Given the description of an element on the screen output the (x, y) to click on. 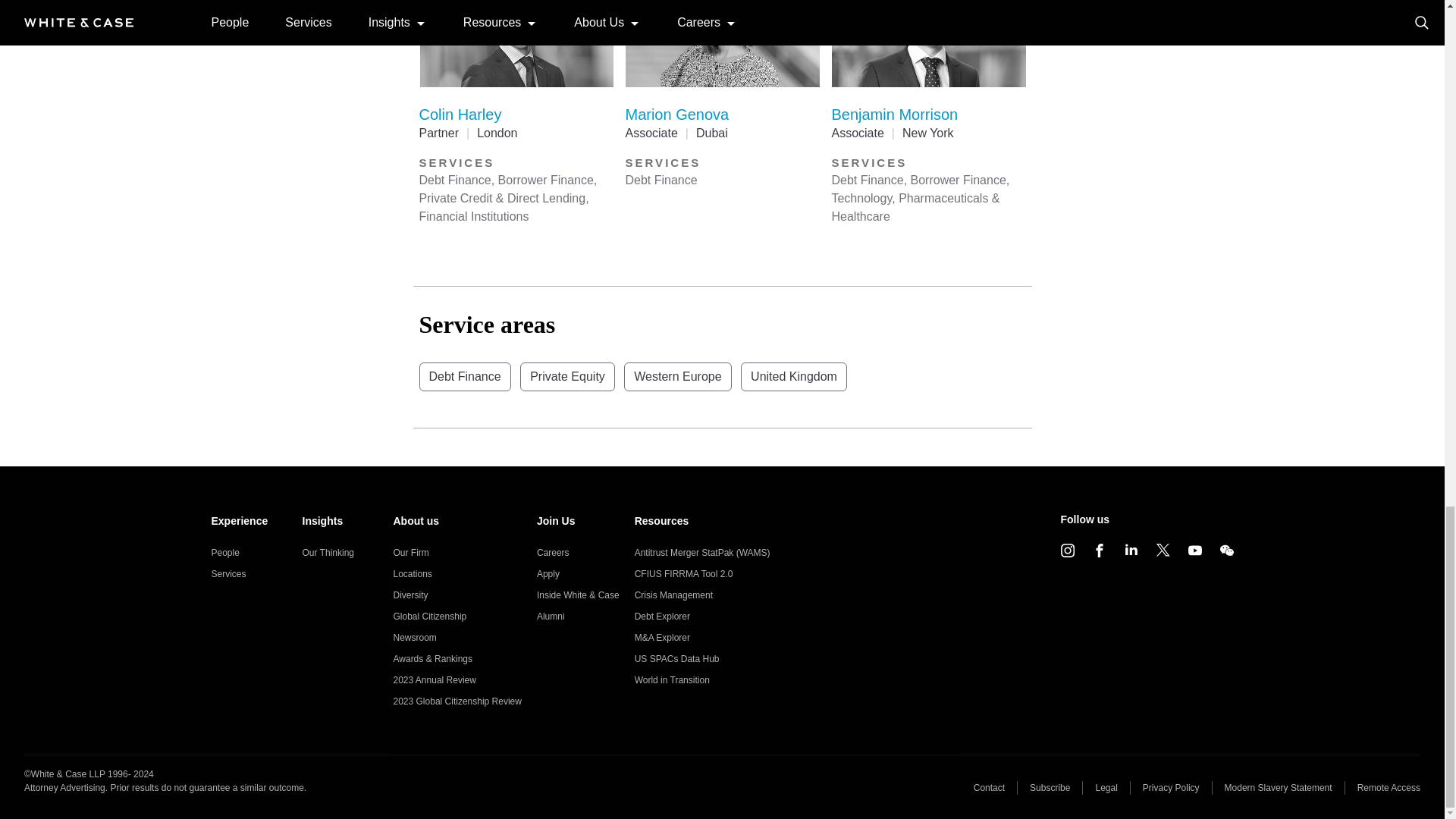
Benjamin Morrison (894, 114)
Colin Harley (459, 114)
Marion Genova (676, 114)
